Given the description of an element on the screen output the (x, y) to click on. 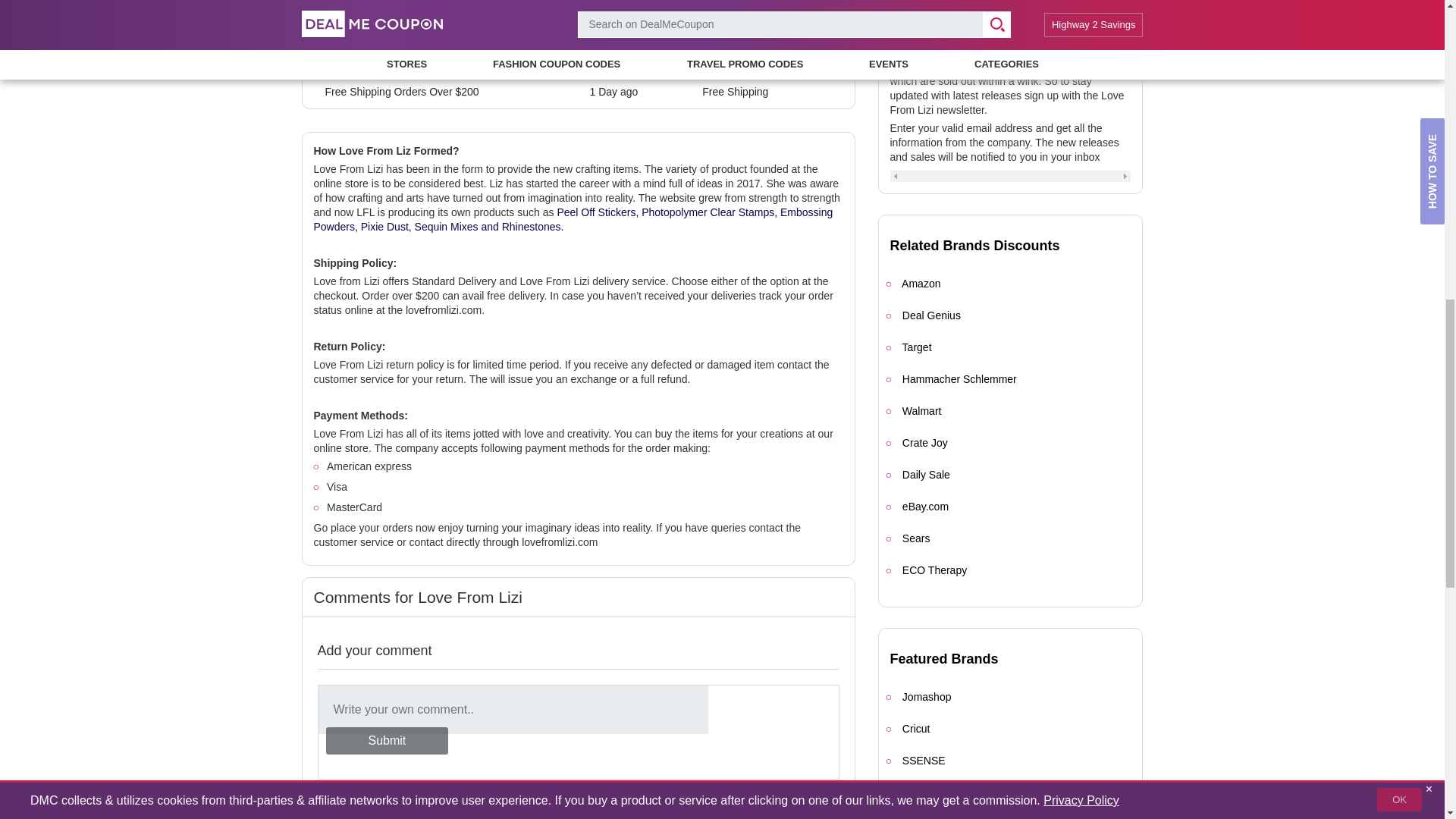
Target  (916, 346)
Jomashop  (927, 696)
Lovehoney (928, 818)
Cricut (916, 728)
Sears  (916, 538)
Sears (916, 538)
Mytheresa  (927, 792)
Daily Sale (926, 474)
Daily Sale  (926, 474)
Deal Genius  (931, 315)
